Given the description of an element on the screen output the (x, y) to click on. 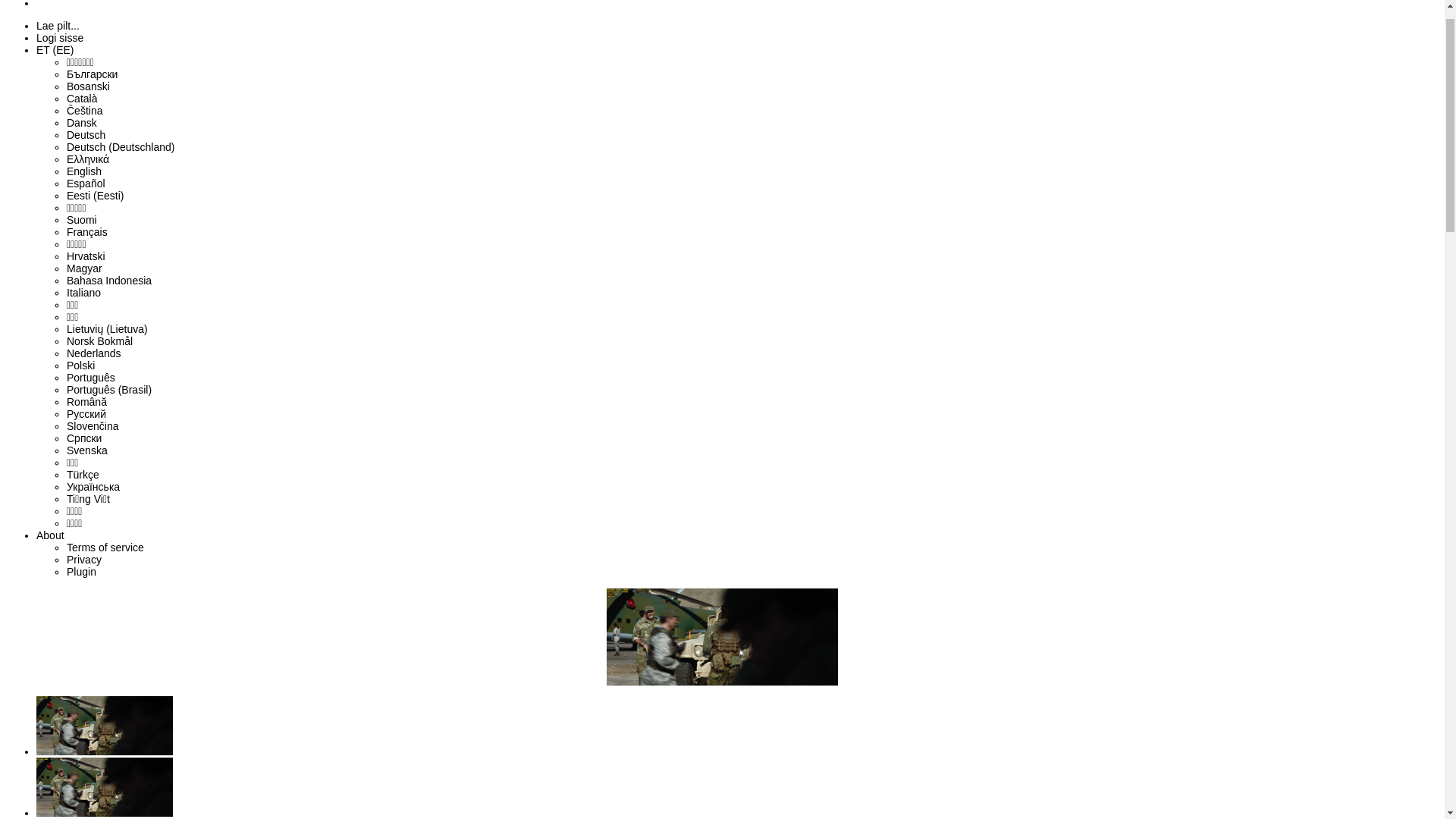
Deutsch Element type: text (85, 166)
Lae pilt... Element type: text (57, 57)
Magyar Element type: text (84, 300)
Privacy Element type: text (83, 591)
Suomi Element type: text (81, 251)
English Element type: text (83, 203)
Nederlands Element type: text (93, 385)
Deutsch (Deutschland) Element type: text (120, 178)
Terms of service Element type: text (105, 579)
Dansk Element type: text (81, 154)
Polski Element type: text (80, 397)
Logi sisse Element type: text (59, 69)
Hrvatski Element type: text (85, 288)
Italiano Element type: text (83, 324)
Bosanski Element type: text (87, 118)
Bahasa Indonesia Element type: text (108, 312)
Svenska Element type: text (86, 482)
Plugin Element type: text (81, 603)
Eesti (Eesti) Element type: text (94, 227)
